Given the description of an element on the screen output the (x, y) to click on. 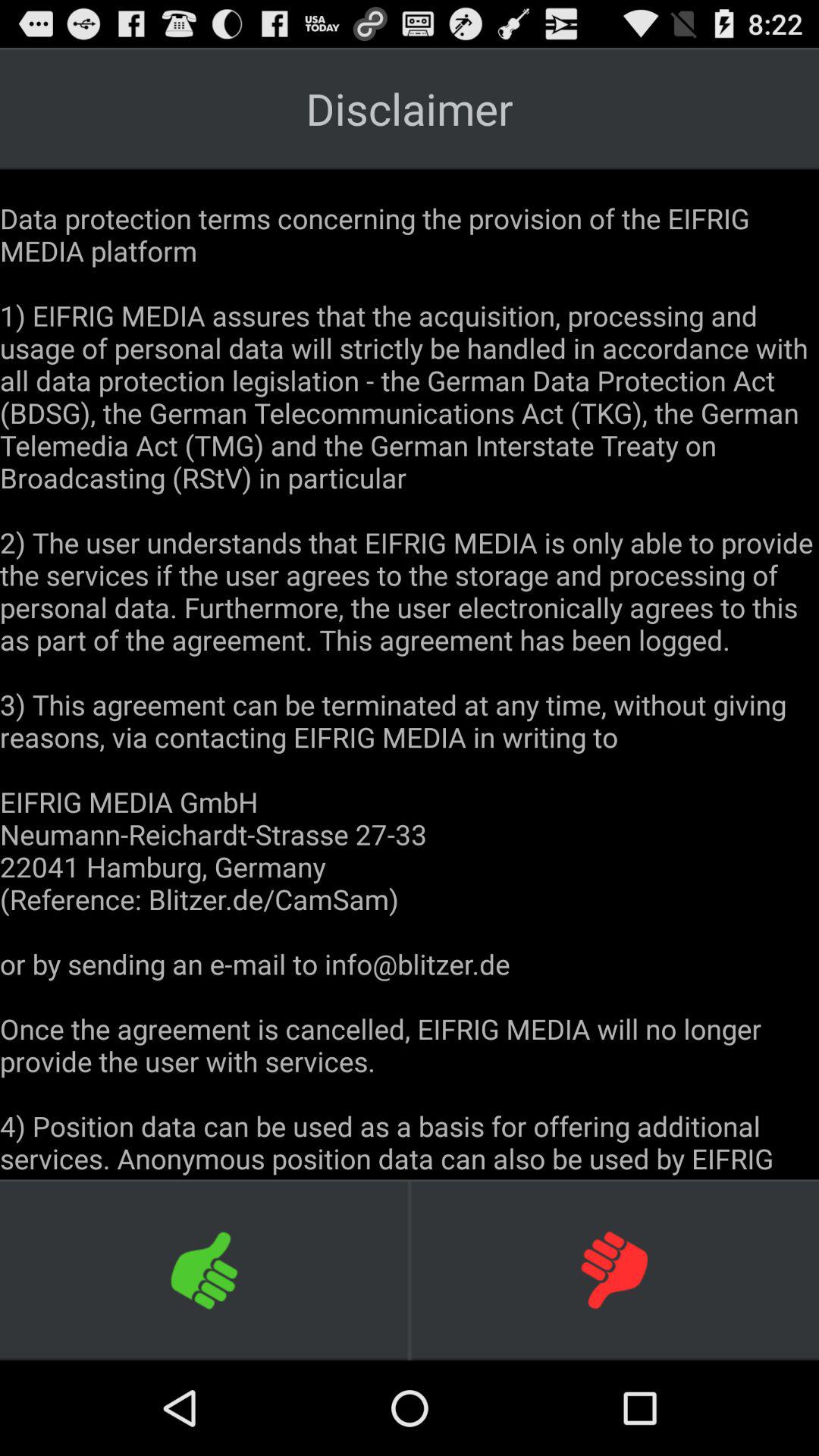
click the icon at the bottom left corner (204, 1269)
